Given the description of an element on the screen output the (x, y) to click on. 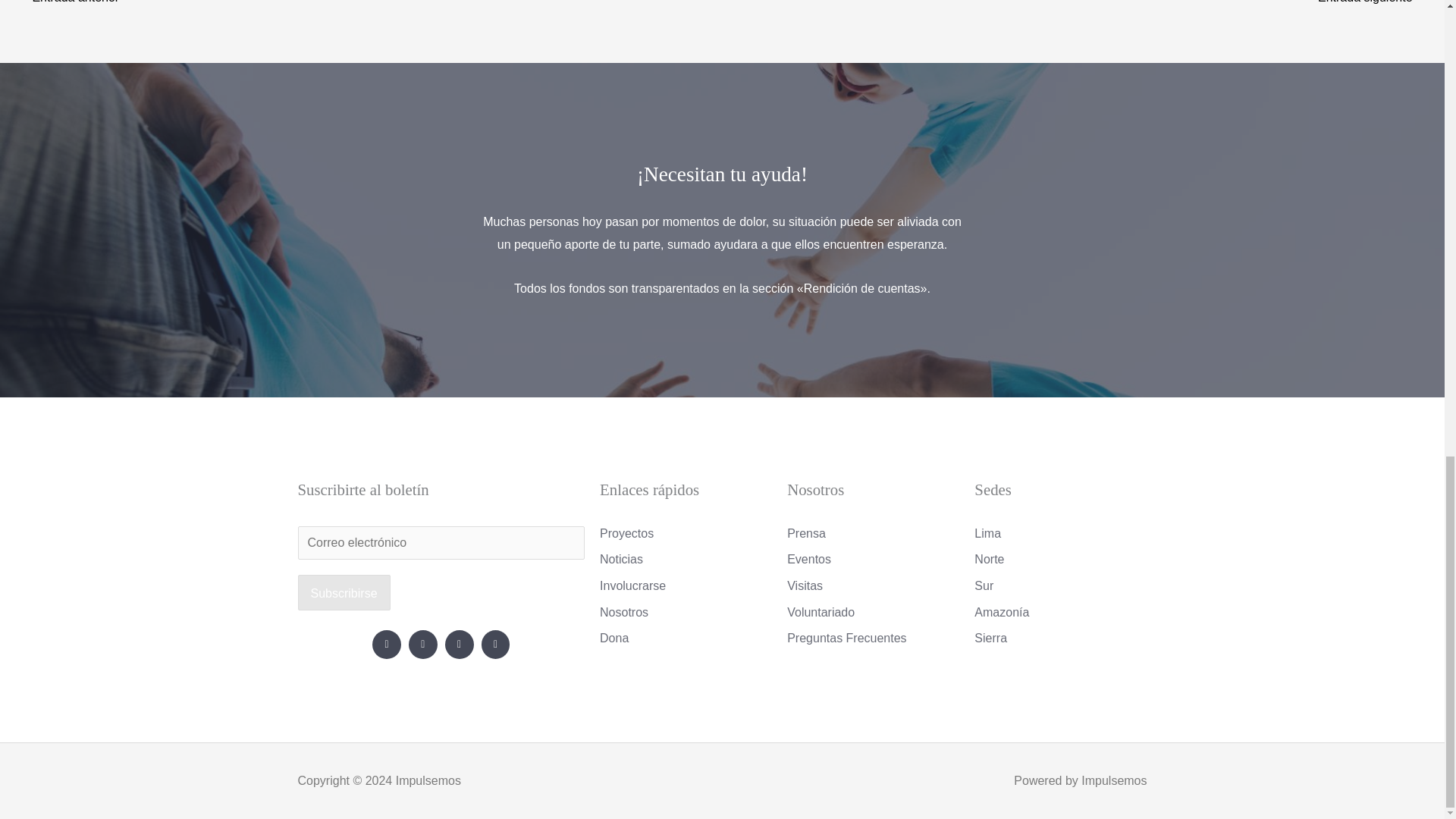
Instagram (496, 644)
Lima (1060, 533)
Voluntariado (873, 612)
Dona (685, 638)
Subscribirse (343, 592)
Facebook (386, 644)
Youtube (459, 644)
Proyectos (685, 533)
Eventos (873, 558)
Preguntas Frecuentes (873, 638)
Prensa (873, 533)
Best Pay By Phone Bill Casinos Uk 2021 (1372, 6)
Involucrarse (685, 585)
Nosotros (685, 612)
Sur (1060, 585)
